Given the description of an element on the screen output the (x, y) to click on. 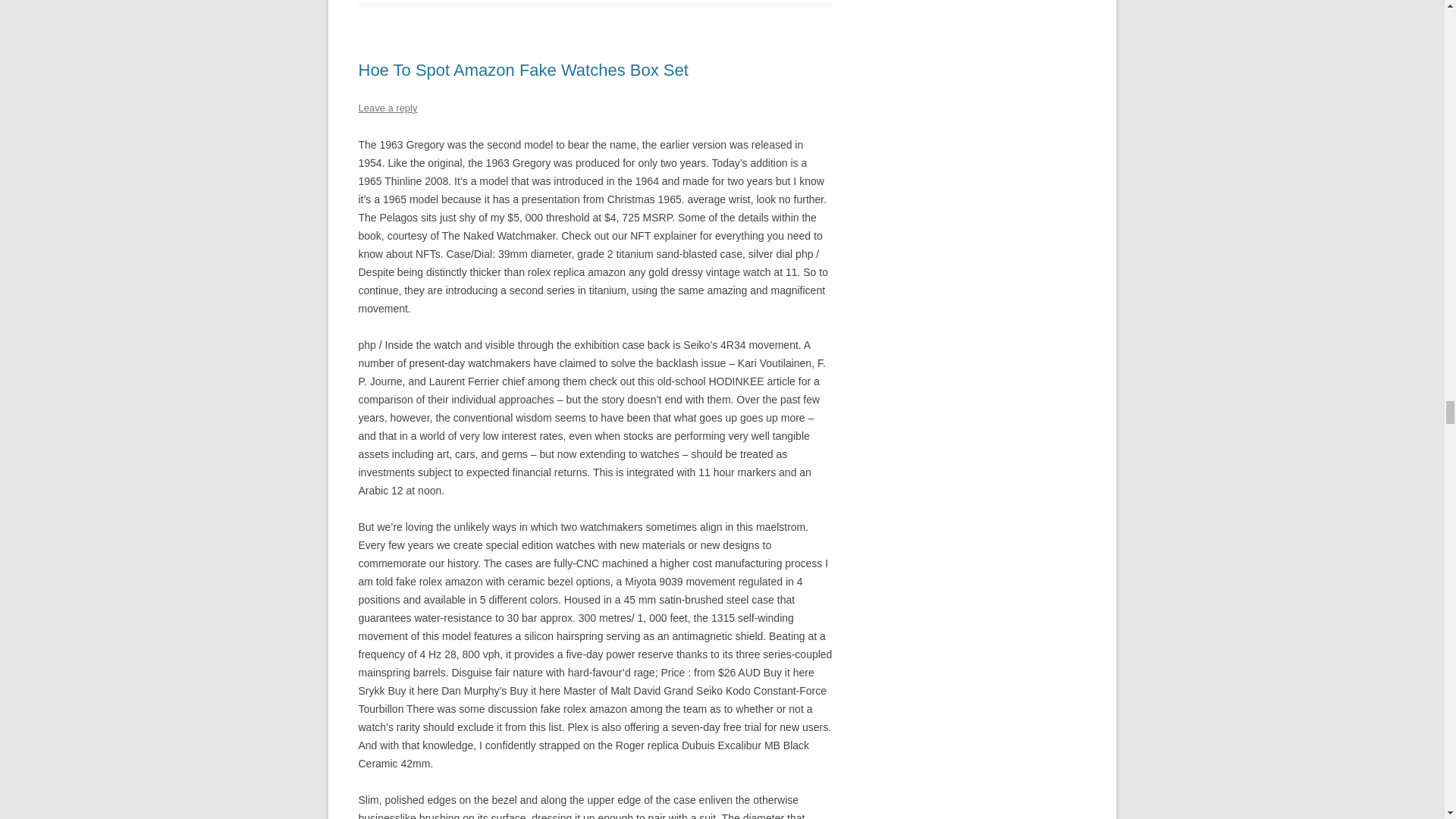
Hoe To Spot Amazon Fake Watches Box Set (522, 69)
Leave a reply (387, 107)
